Given the description of an element on the screen output the (x, y) to click on. 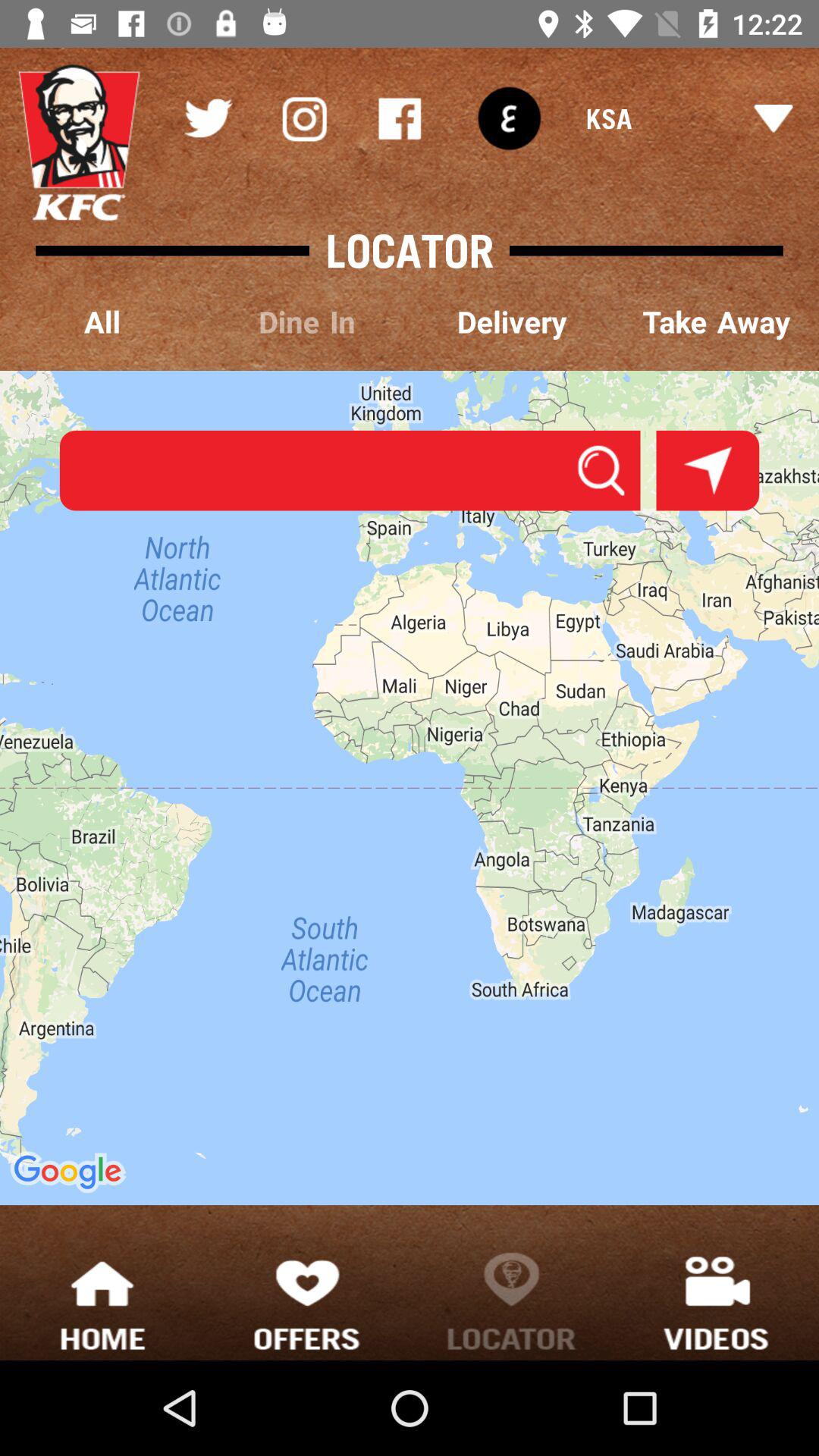
launch icon below all item (409, 787)
